Given the description of an element on the screen output the (x, y) to click on. 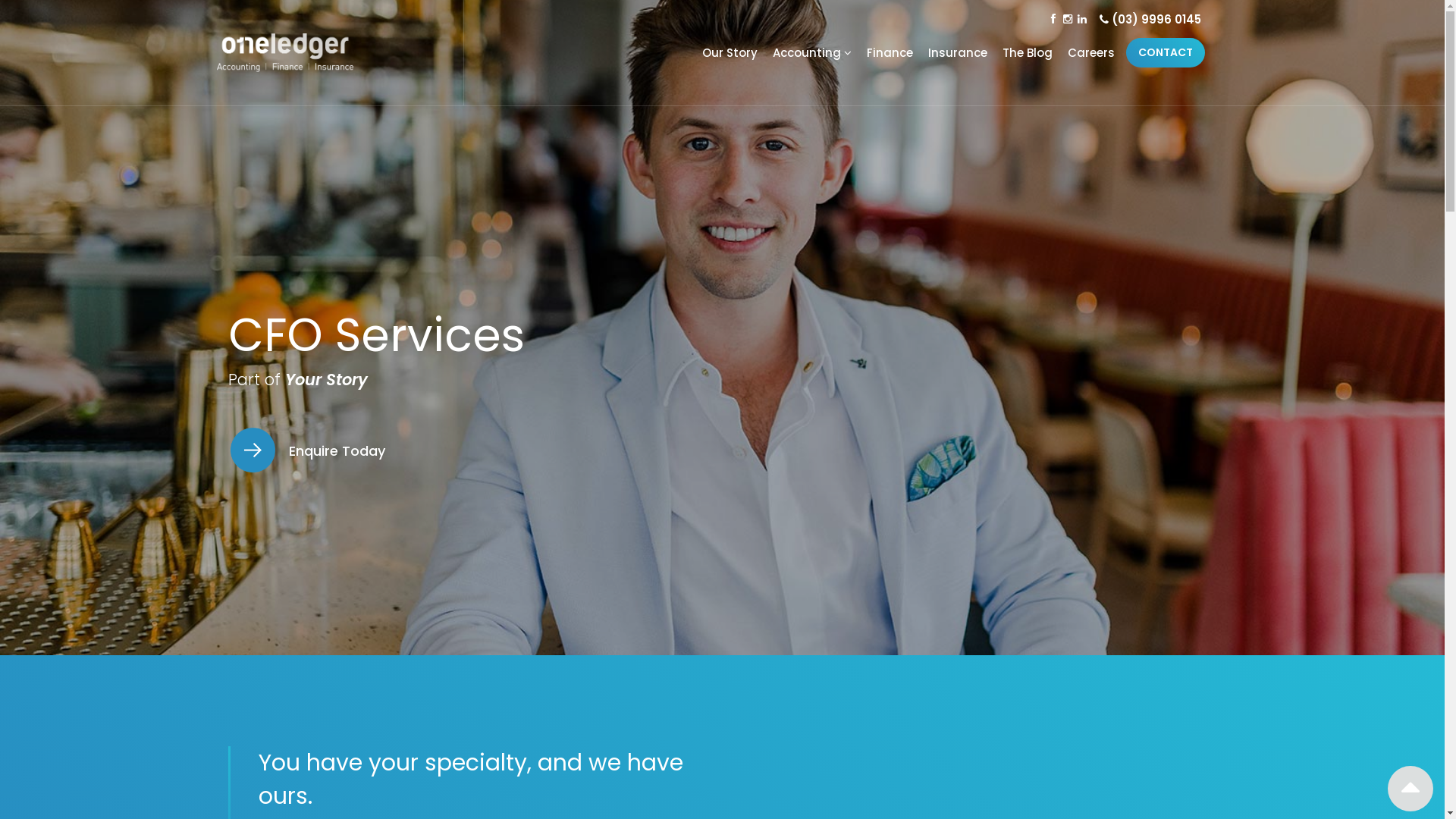
Careers Element type: text (1087, 52)
Our Story Element type: text (725, 52)
CONTACT Element type: text (1165, 52)
Finance Element type: text (885, 52)
OneLedger Element type: hover (284, 52)
Enquire Today Element type: text (306, 447)
The Blog Element type: text (1023, 52)
Accounting Element type: text (808, 52)
Insurance Element type: text (953, 52)
